Given the description of an element on the screen output the (x, y) to click on. 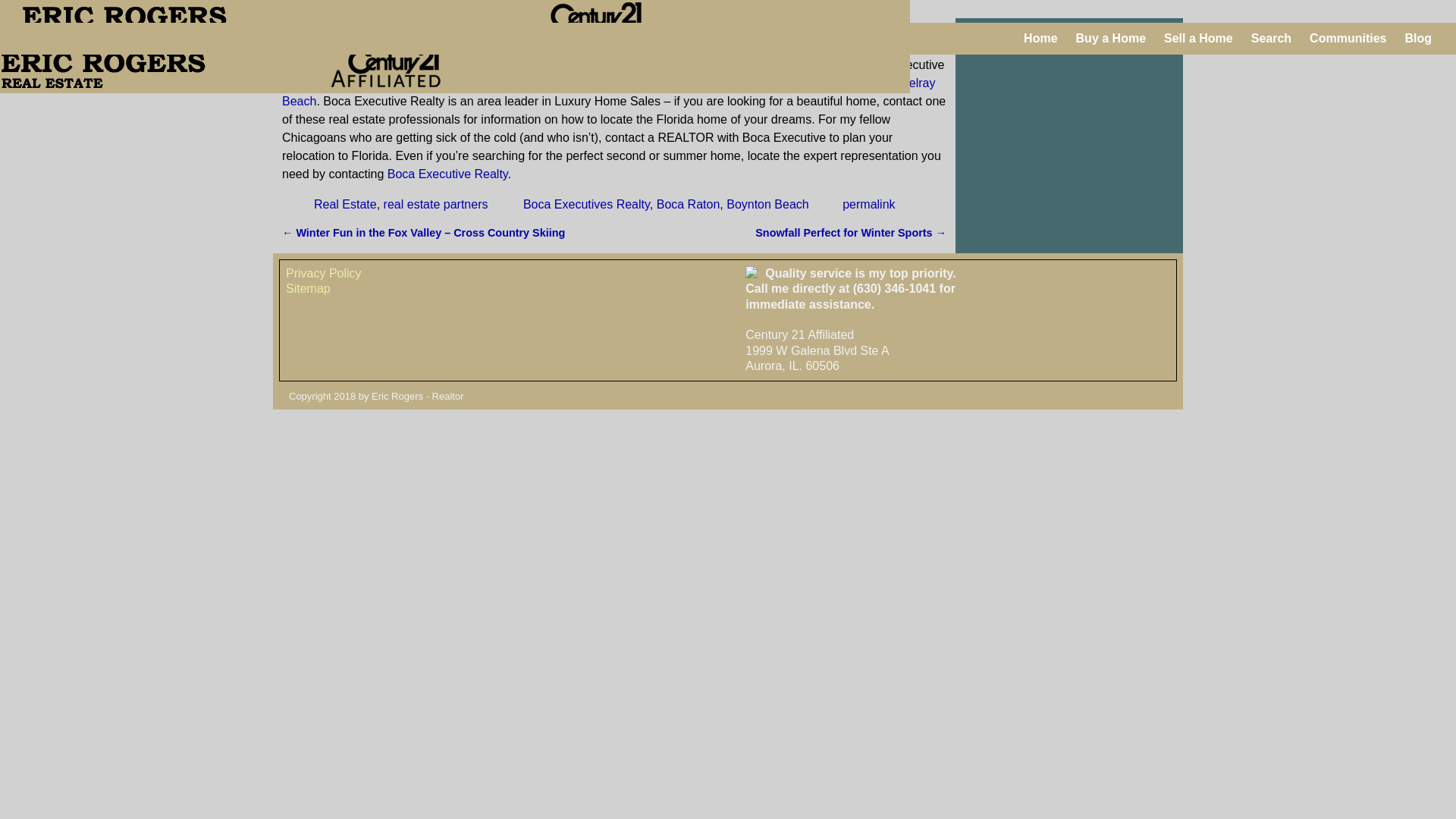
Boca Raton Real Estate (638, 64)
Sell a Home (1197, 38)
Real Estate (345, 204)
Buy a Home Illinois (1110, 38)
Home (1039, 38)
Communities (1347, 38)
Boca Raton (688, 204)
Illinois Communities (1347, 38)
Sell a Home Illinois (1197, 38)
Buy a Home (1110, 38)
